Given the description of an element on the screen output the (x, y) to click on. 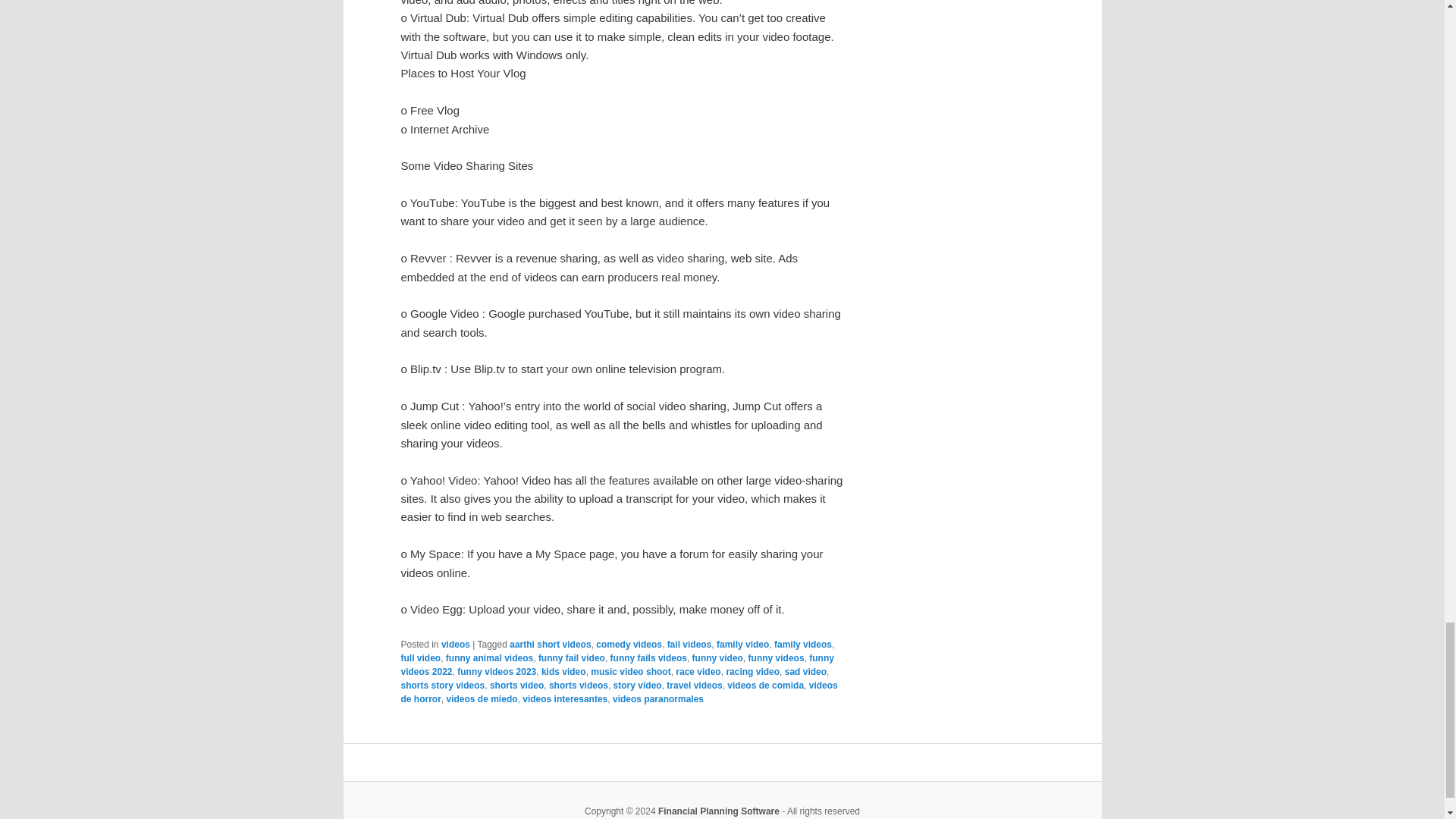
kids video (563, 671)
fail videos (688, 644)
videos (455, 644)
funny animal videos (488, 657)
View all posts in videos (455, 644)
shorts story videos (442, 685)
funny fails videos (648, 657)
funny videos (776, 657)
sad video (805, 671)
family video (742, 644)
family videos (802, 644)
story video (637, 685)
aarthi short videos (550, 644)
shorts video (516, 685)
travel videos (694, 685)
